Given the description of an element on the screen output the (x, y) to click on. 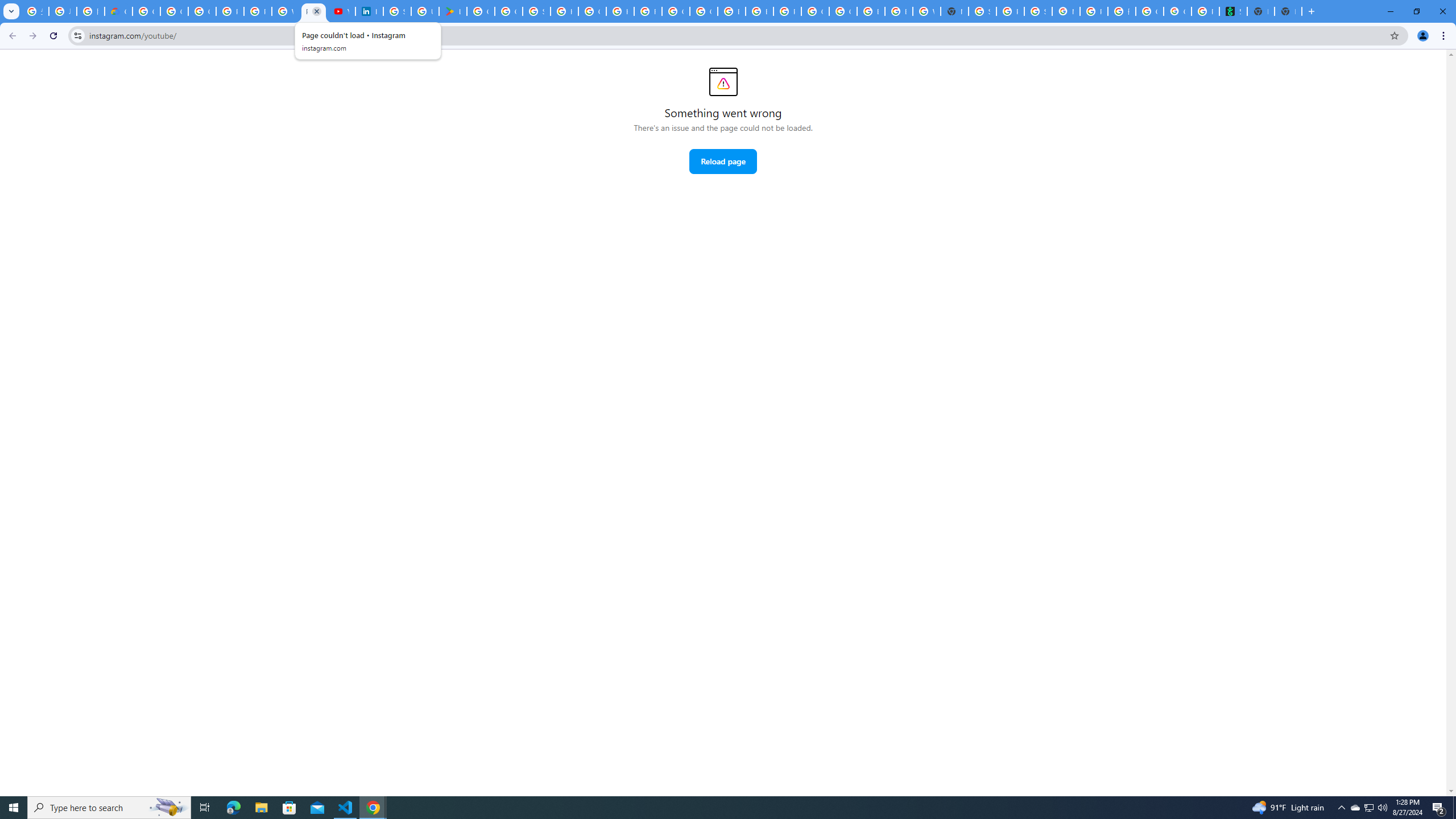
YouTube Culture & Trends - On The Rise: Handcam Videos (341, 11)
Google Cloud Platform (842, 11)
New Tab (1288, 11)
Google Cloud Platform (815, 11)
Reload page (722, 161)
